Given the description of an element on the screen output the (x, y) to click on. 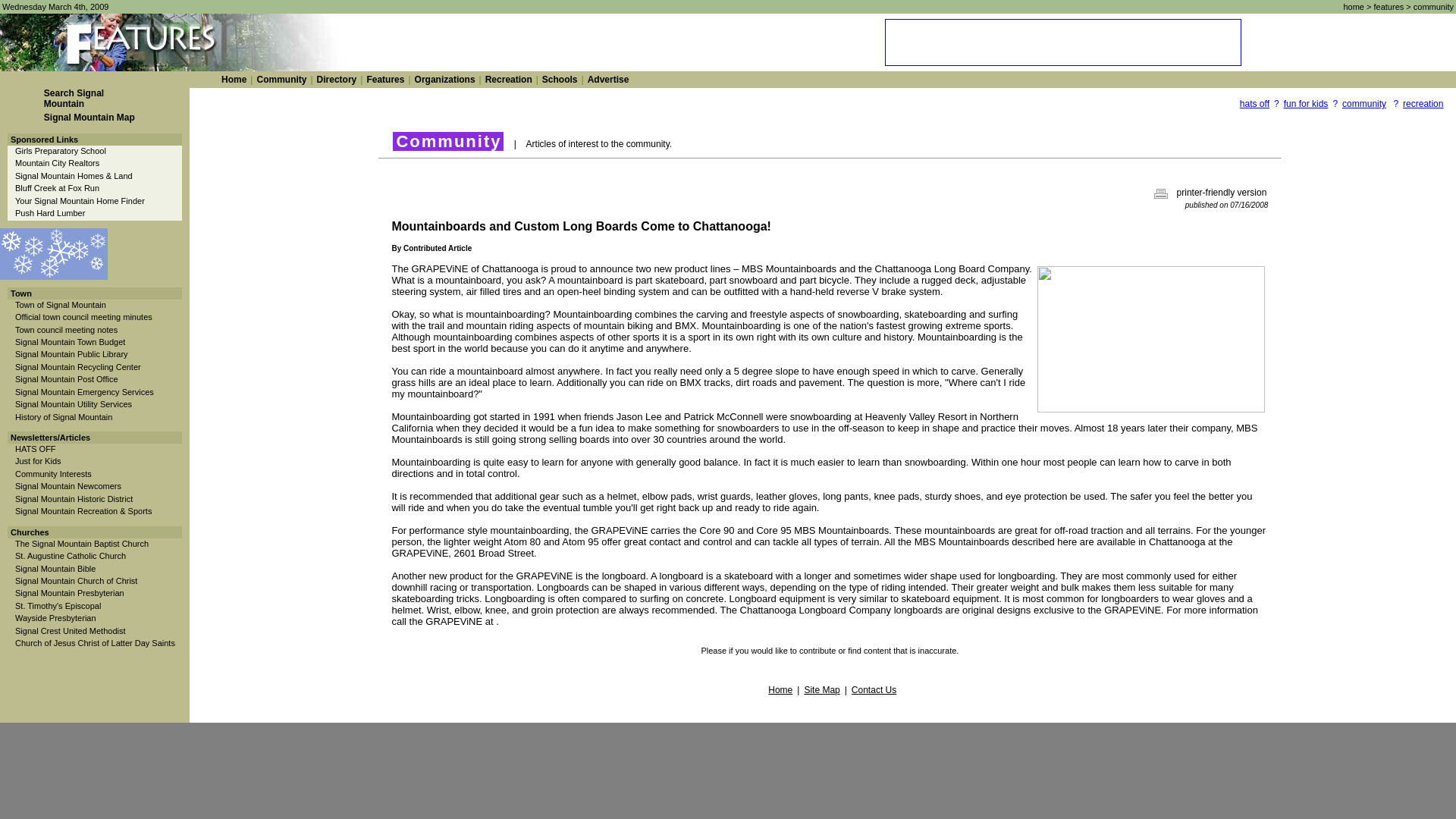
Signal Mountain Utility Services (73, 403)
Advertise (608, 79)
HATS OFF (35, 448)
Town council meeting notes (65, 328)
Official town council meeting minutes (83, 316)
Girls Preparatory School (60, 150)
Signal Mountain Emergency Services (84, 391)
Signal Mountain Recycling Center (77, 366)
Signal Mountain Map (89, 117)
Push Hard Lumber (49, 212)
History of Signal Mountain (63, 416)
features (1389, 6)
home (1353, 6)
Just for Kids (37, 461)
Schools (559, 79)
